Given the description of an element on the screen output the (x, y) to click on. 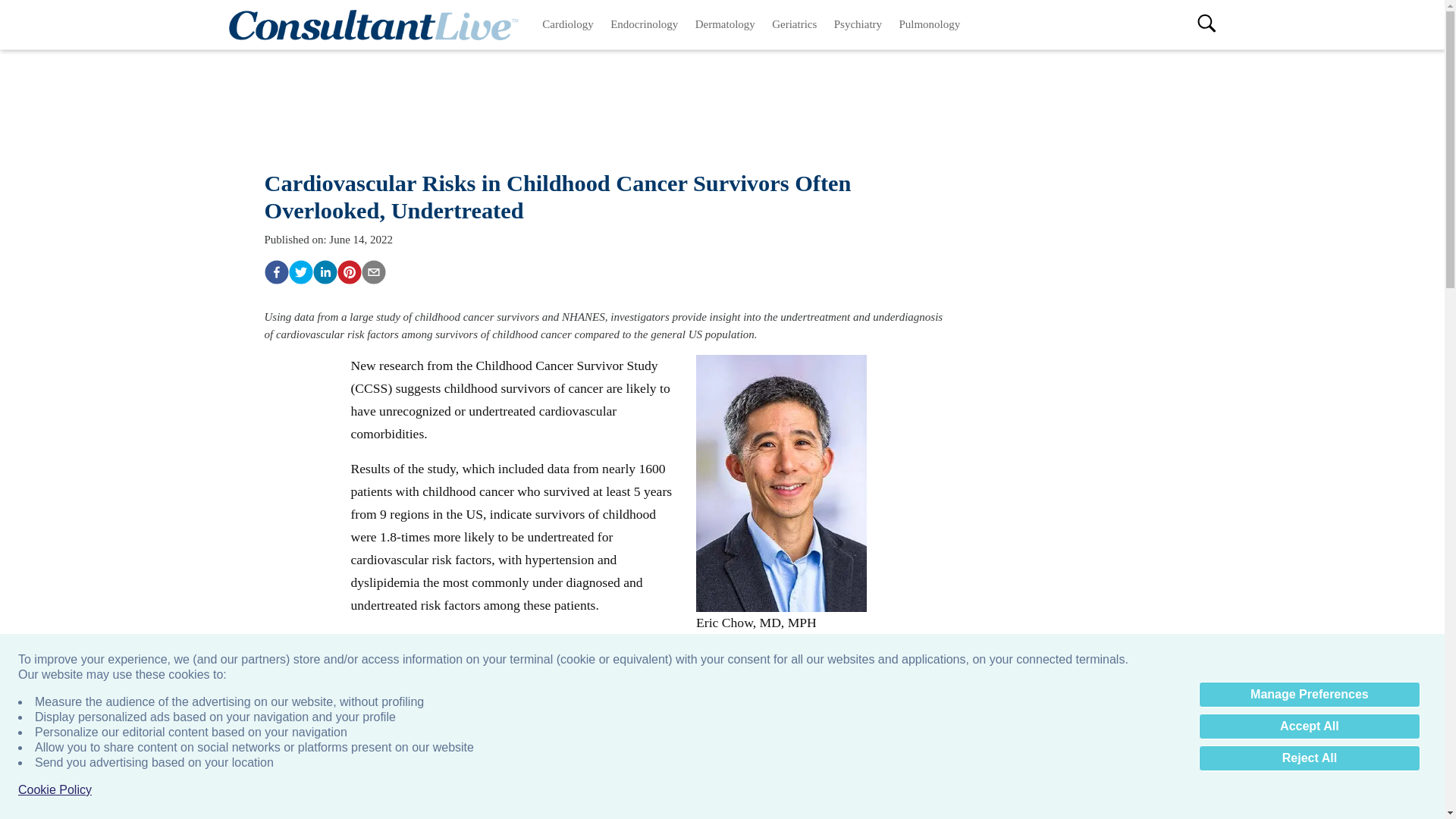
Manage Preferences (1309, 694)
Cardiology (568, 24)
Psychiatry (858, 24)
Reject All (1309, 758)
Endocrinology (644, 24)
statement from the American Heart Association (702, 729)
Pulmonology (928, 24)
Geriatrics (793, 24)
Accept All (1309, 726)
Cookie Policy (54, 789)
Dermatology (725, 24)
